Given the description of an element on the screen output the (x, y) to click on. 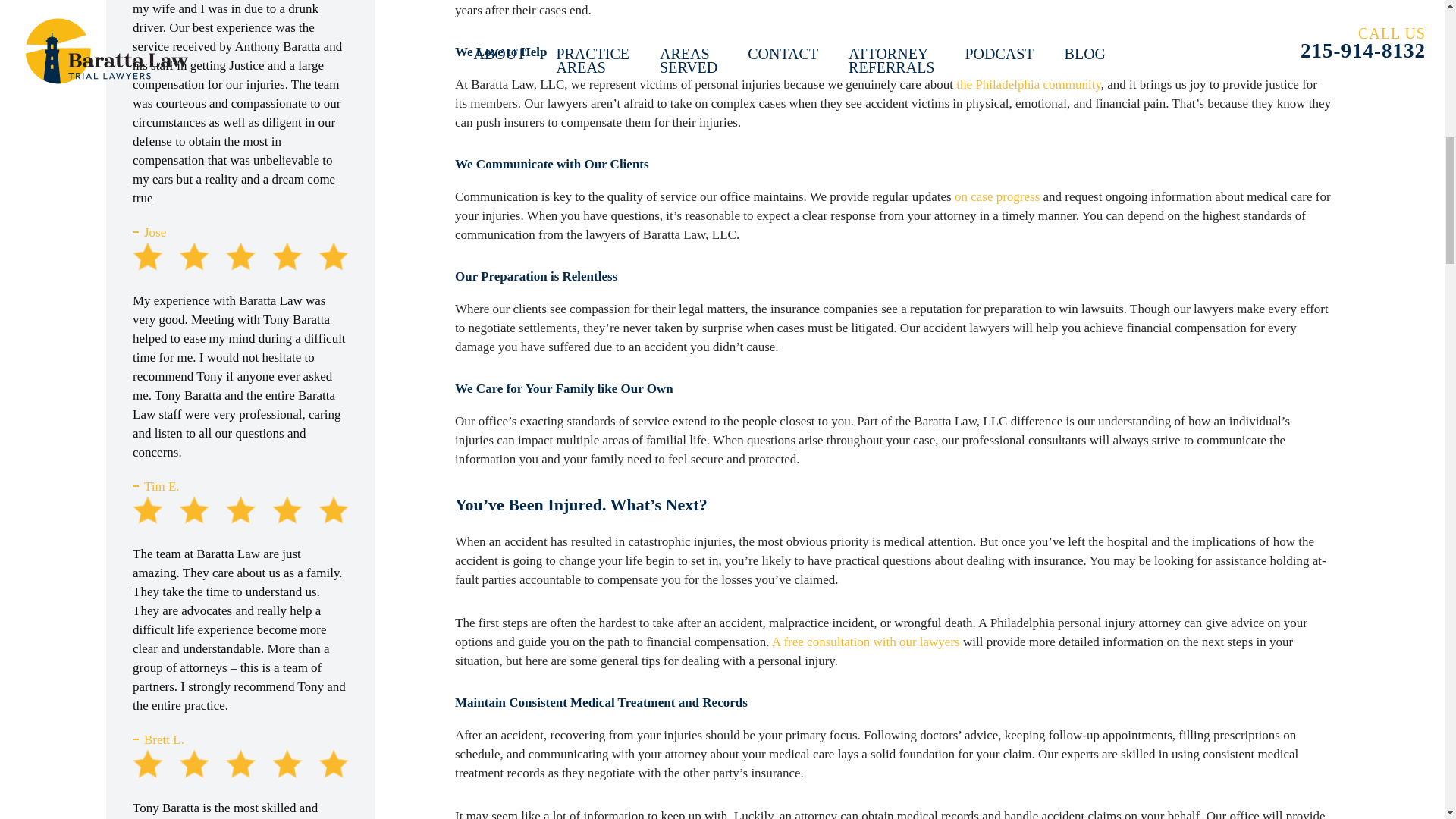
the Philadelphia community (1028, 83)
